Given the description of an element on the screen output the (x, y) to click on. 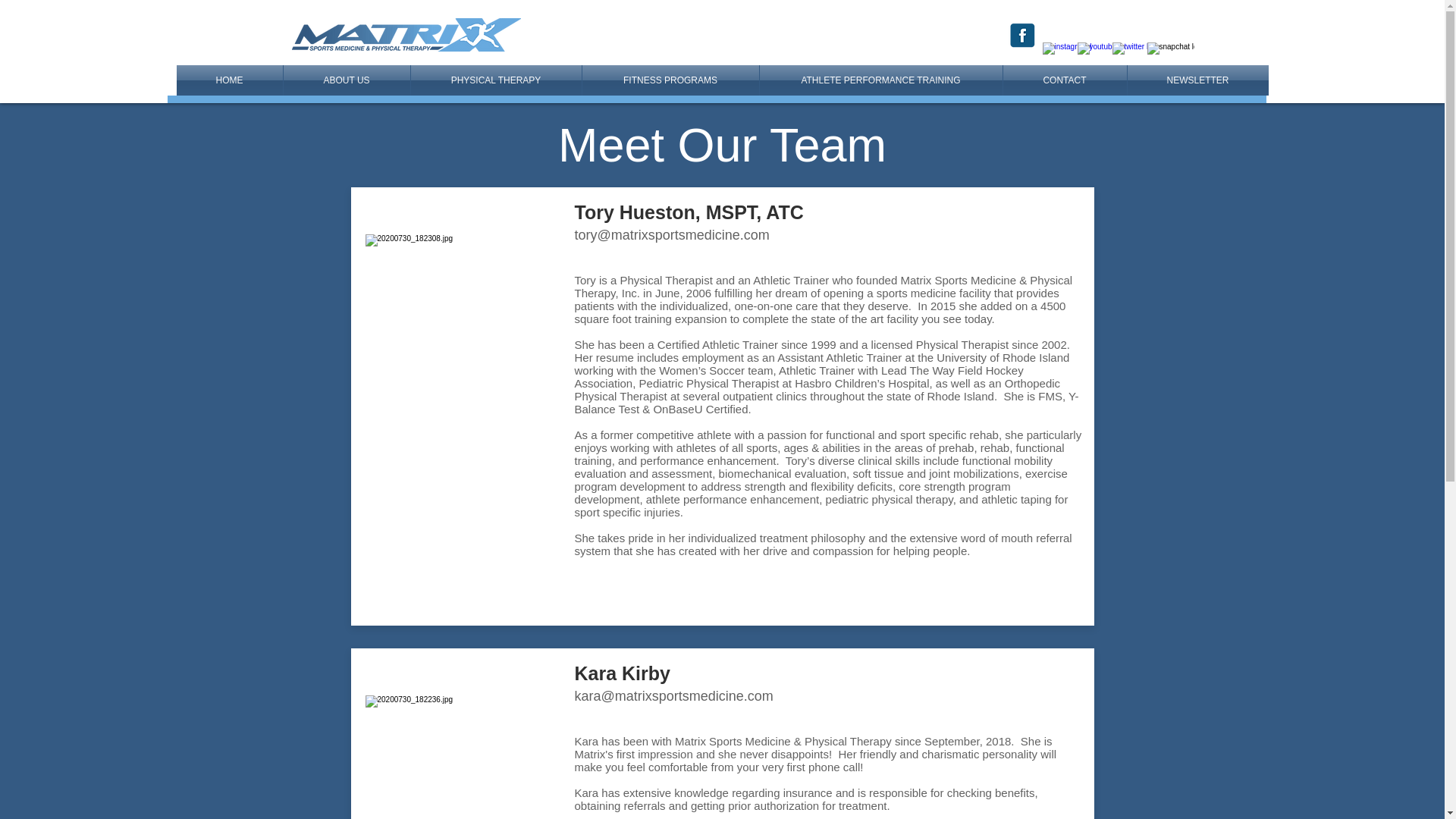
NEWSLETTER (1197, 80)
HOME (229, 80)
ATHLETE PERFORMANCE TRAINING (881, 80)
CONTACT (1064, 80)
